Given the description of an element on the screen output the (x, y) to click on. 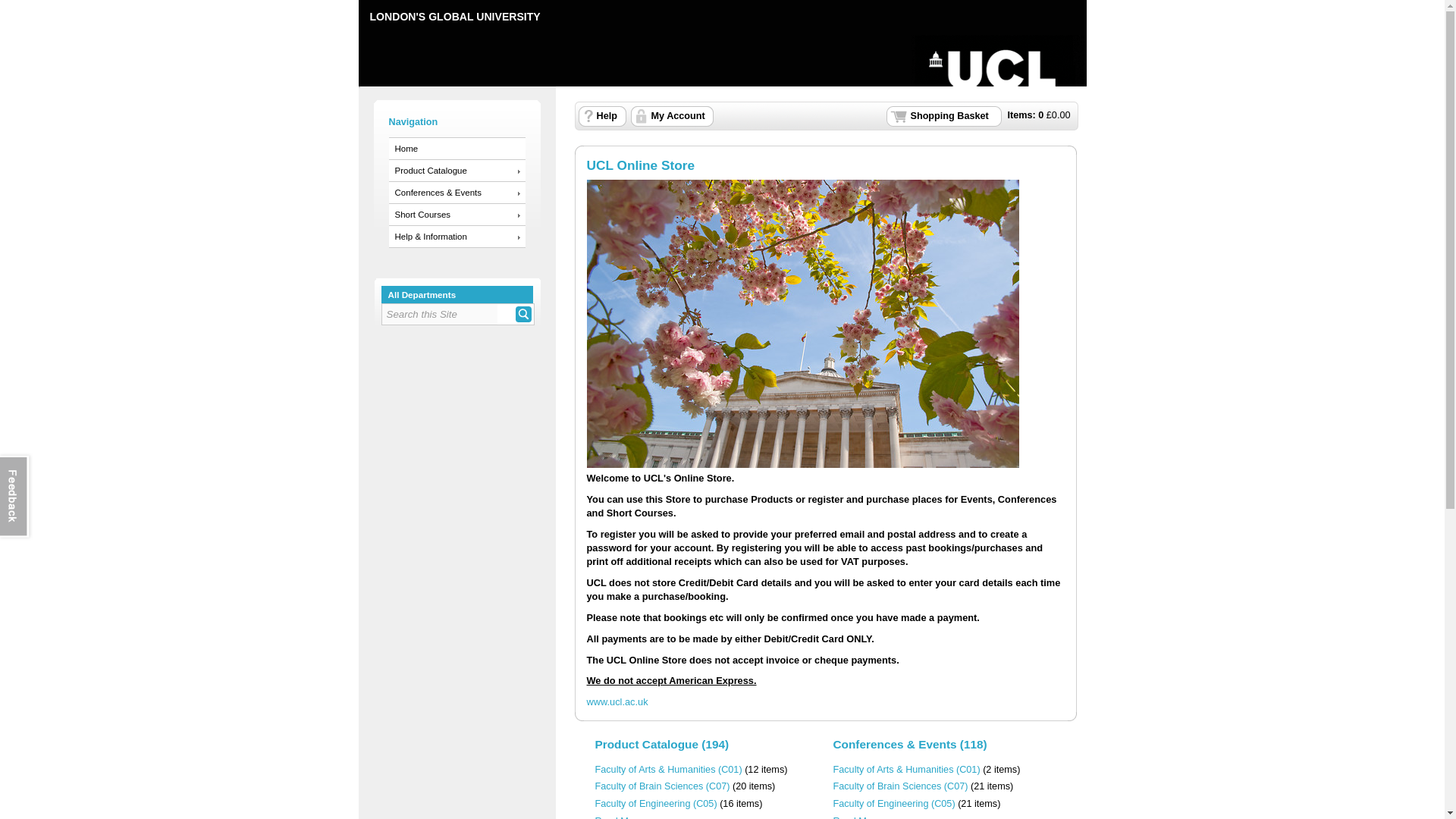
Product Catalogue (456, 169)
Search this Site (439, 313)
Search this Site (439, 313)
Home (456, 148)
